Given the description of an element on the screen output the (x, y) to click on. 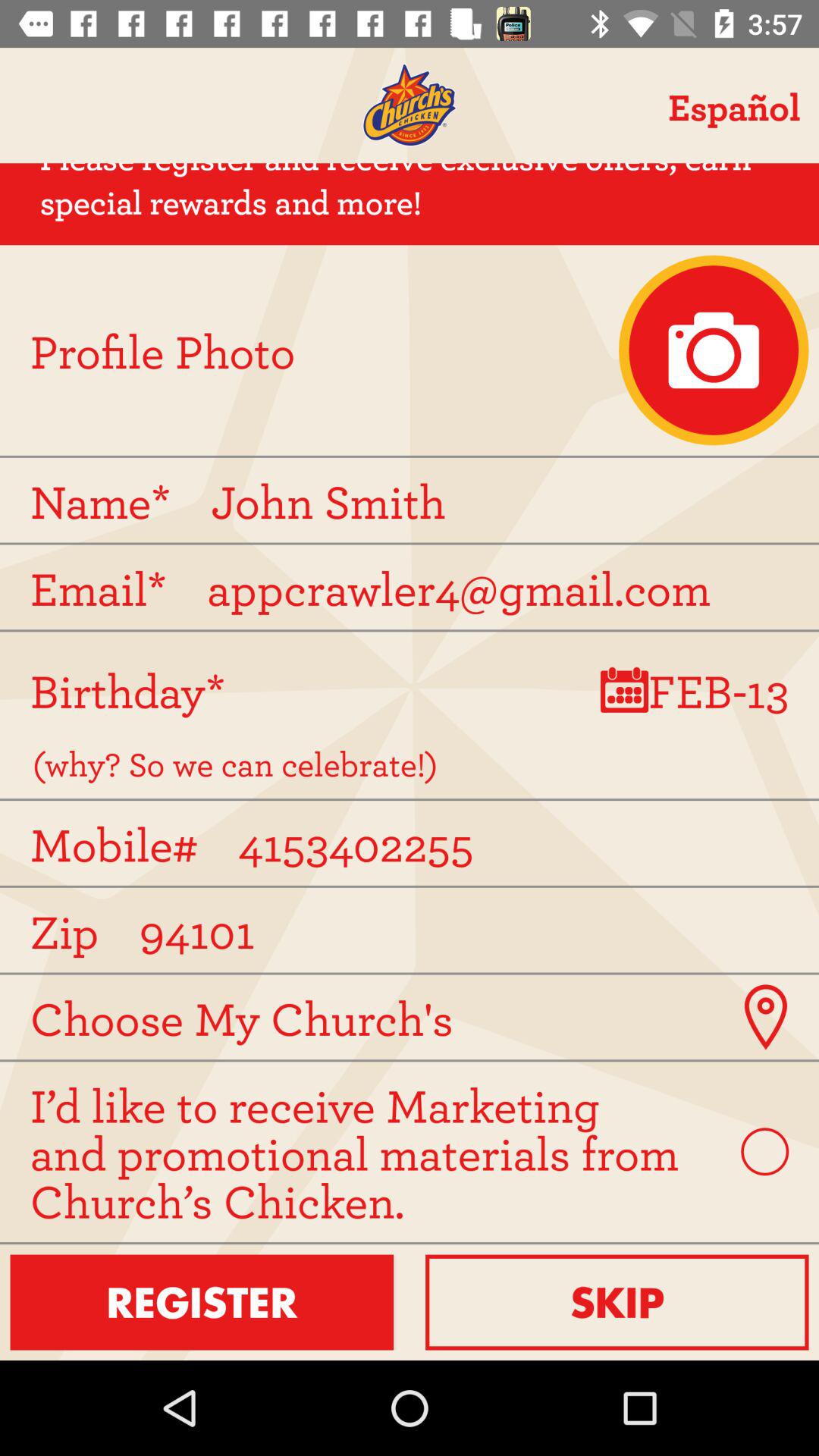
location (765, 1017)
